Given the description of an element on the screen output the (x, y) to click on. 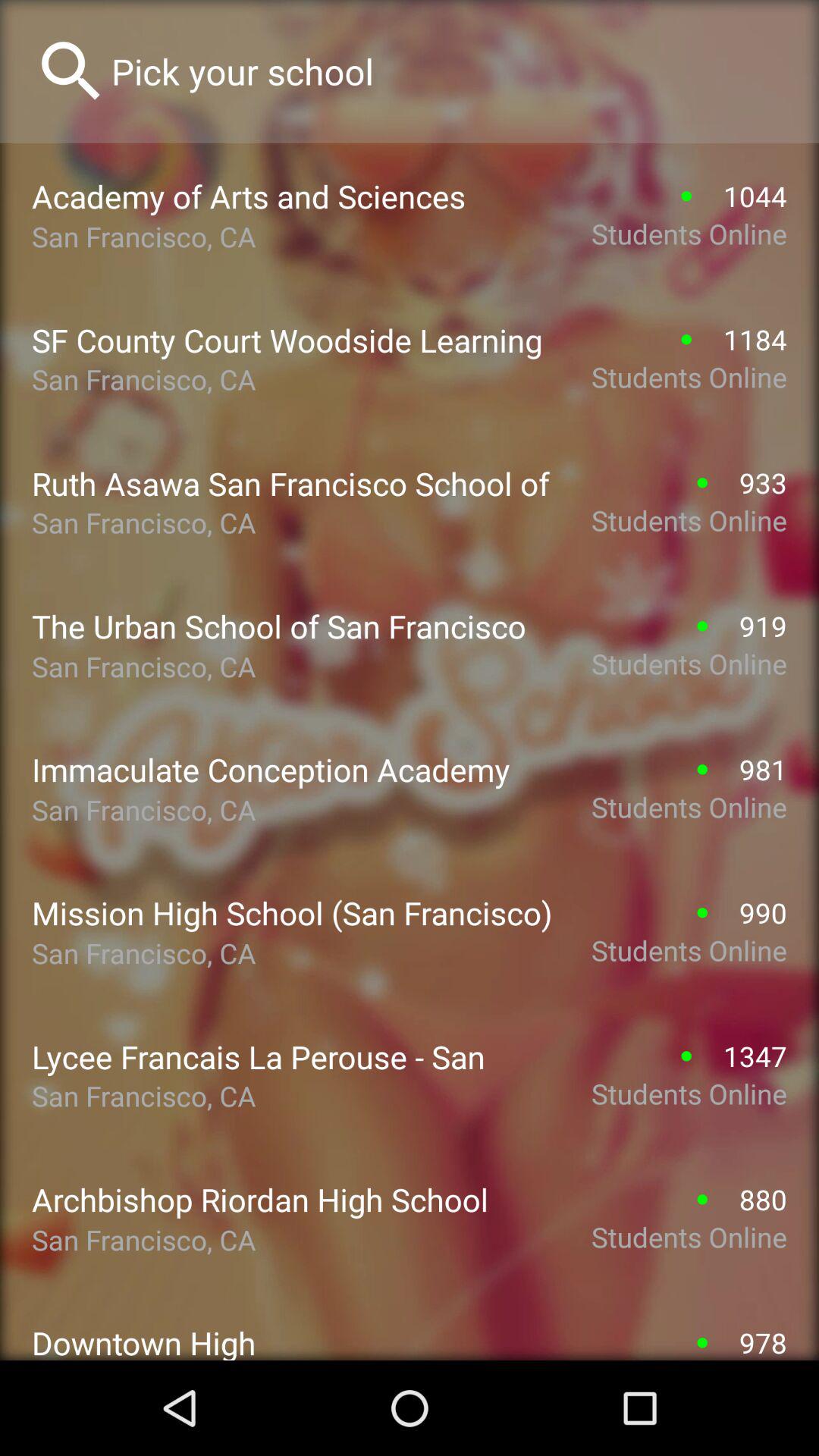
search textbox (449, 71)
